Given the description of an element on the screen output the (x, y) to click on. 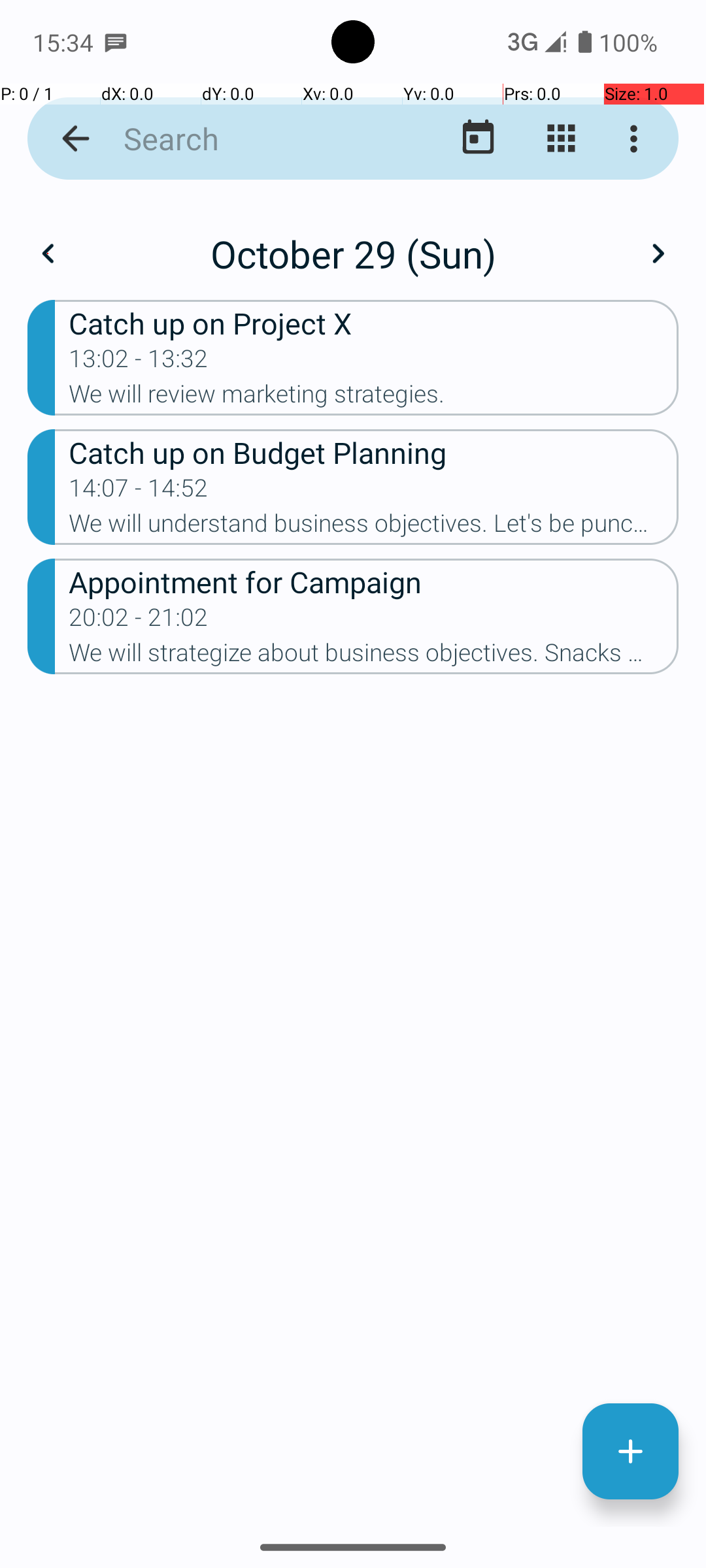
October 29 (Sun) Element type: android.widget.TextView (352, 253)
Catch up on Project X Element type: android.widget.TextView (373, 321)
13:02 - 13:32 Element type: android.widget.TextView (137, 362)
We will review marketing strategies. Element type: android.widget.TextView (373, 397)
Catch up on Budget Planning Element type: android.widget.TextView (373, 451)
14:07 - 14:52 Element type: android.widget.TextView (137, 491)
We will understand business objectives. Let's be punctual. Element type: android.widget.TextView (373, 526)
Appointment for Campaign Element type: android.widget.TextView (373, 580)
20:02 - 21:02 Element type: android.widget.TextView (137, 620)
We will strategize about business objectives. Snacks will be provided. Element type: android.widget.TextView (373, 656)
